Given the description of an element on the screen output the (x, y) to click on. 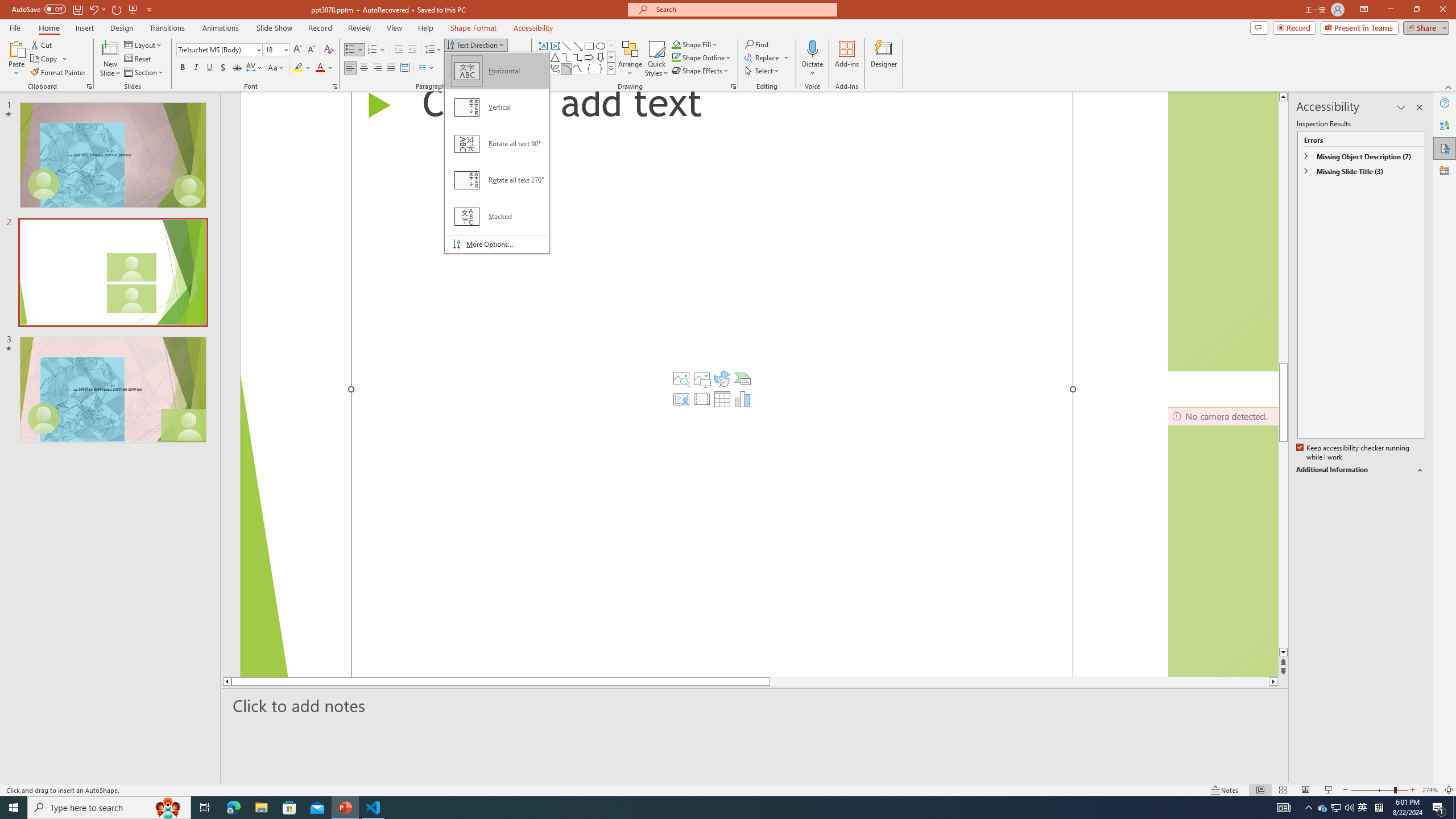
Shape Effects (700, 69)
